Given the description of an element on the screen output the (x, y) to click on. 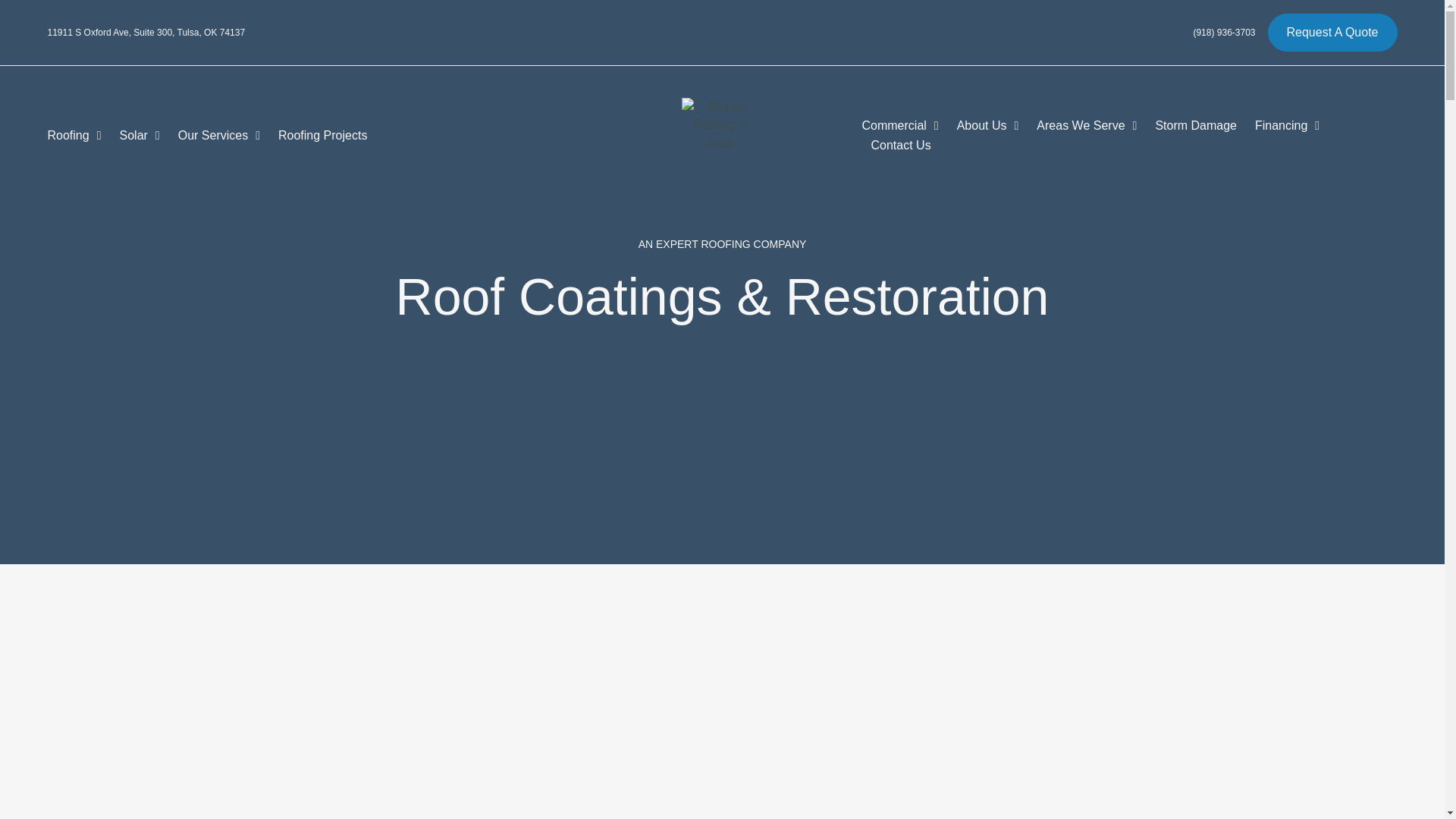
11911 S Oxford Ave, Suite 300, Tulsa, OK 74137 (145, 32)
Our Services (218, 135)
Roofing (73, 135)
Solar (139, 135)
Request A Quote (1332, 32)
Roofing Projects (322, 135)
